Given the description of an element on the screen output the (x, y) to click on. 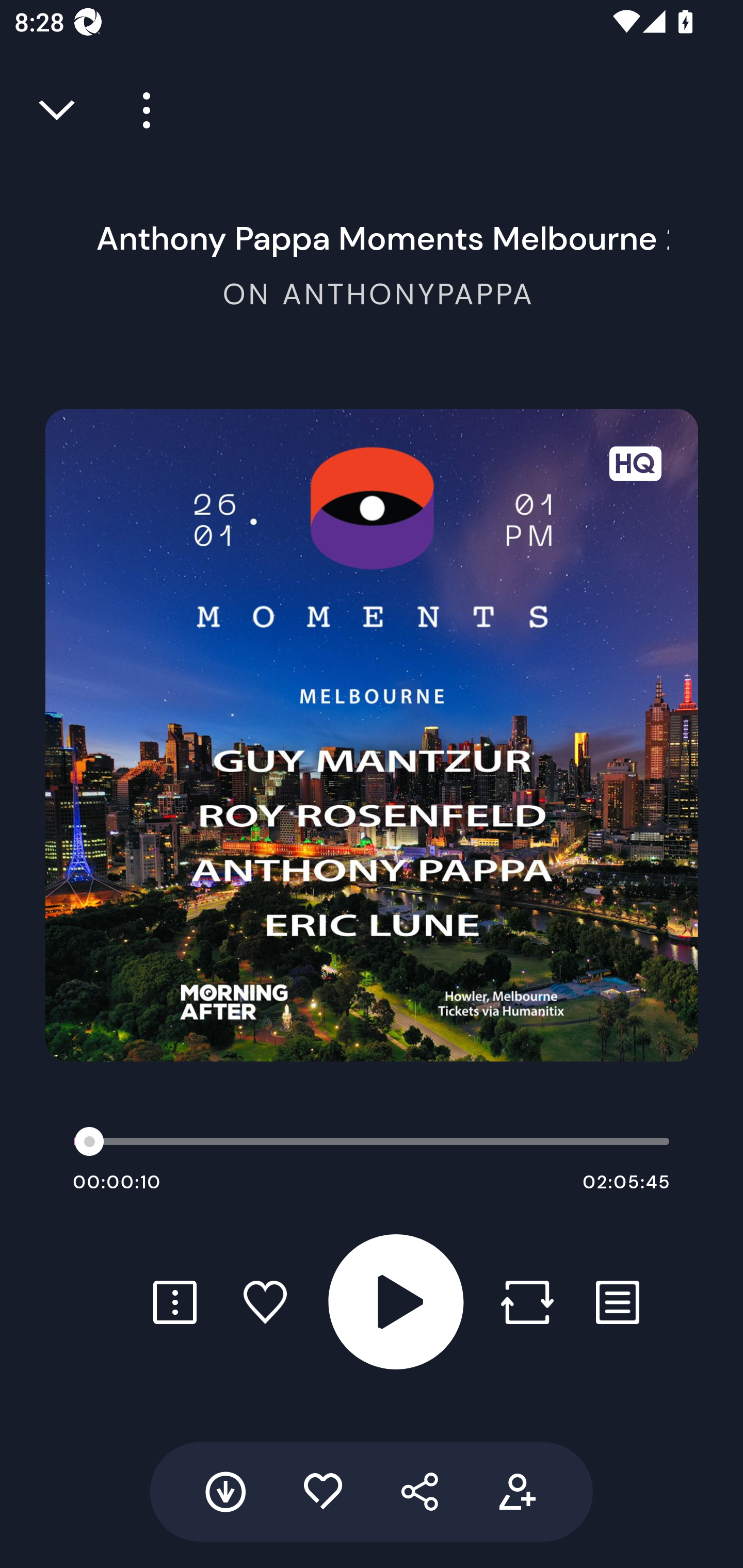
Close full player (58, 110)
Repost button (527, 1301)
